Given the description of an element on the screen output the (x, y) to click on. 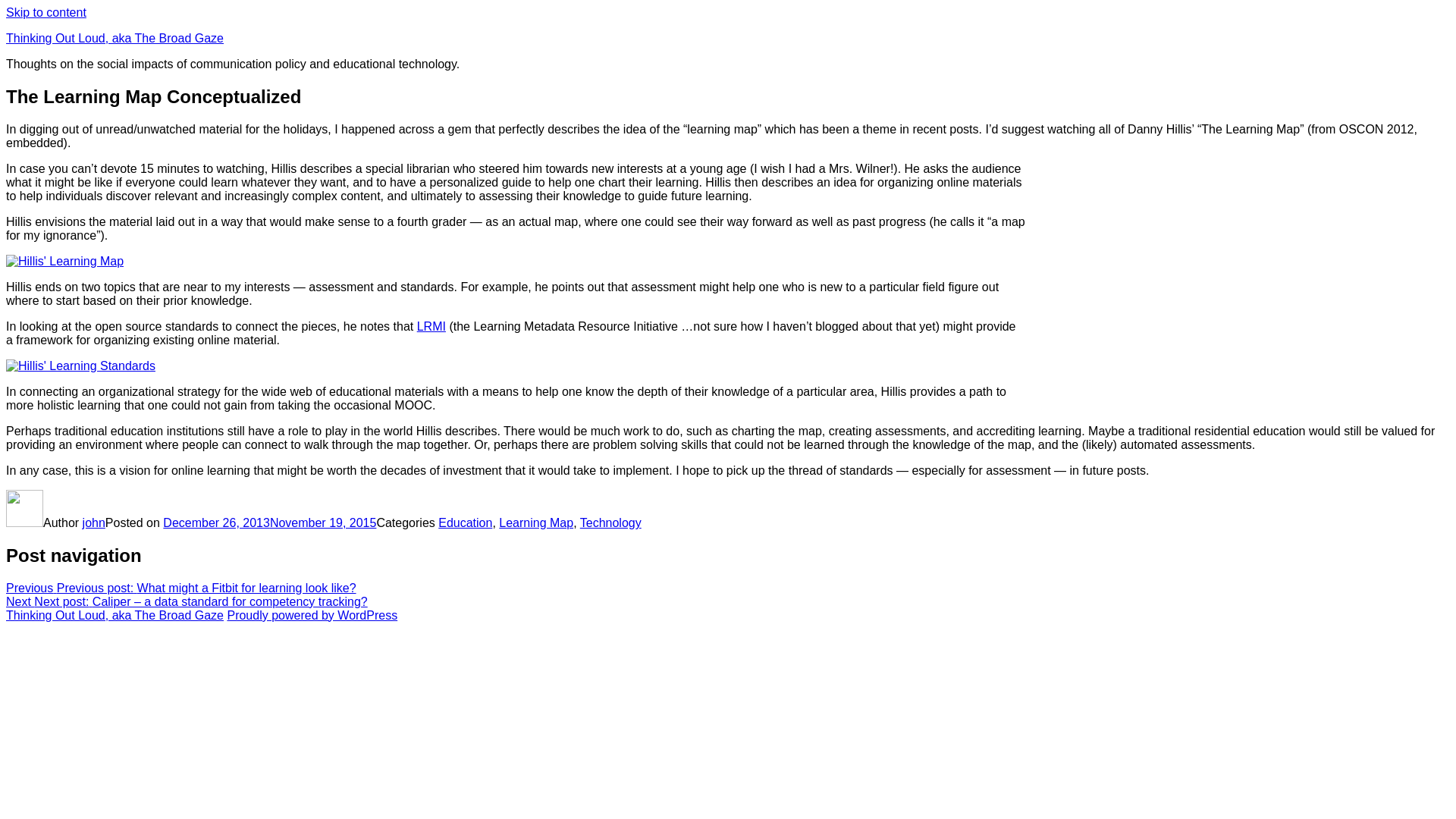
john (93, 522)
December 26, 2013November 19, 2015 (269, 522)
Thinking Out Loud, aka The Broad Gaze (114, 38)
LRMI (430, 326)
Education (465, 522)
Learning Map (536, 522)
Technology (610, 522)
Skip to content (45, 11)
